Given the description of an element on the screen output the (x, y) to click on. 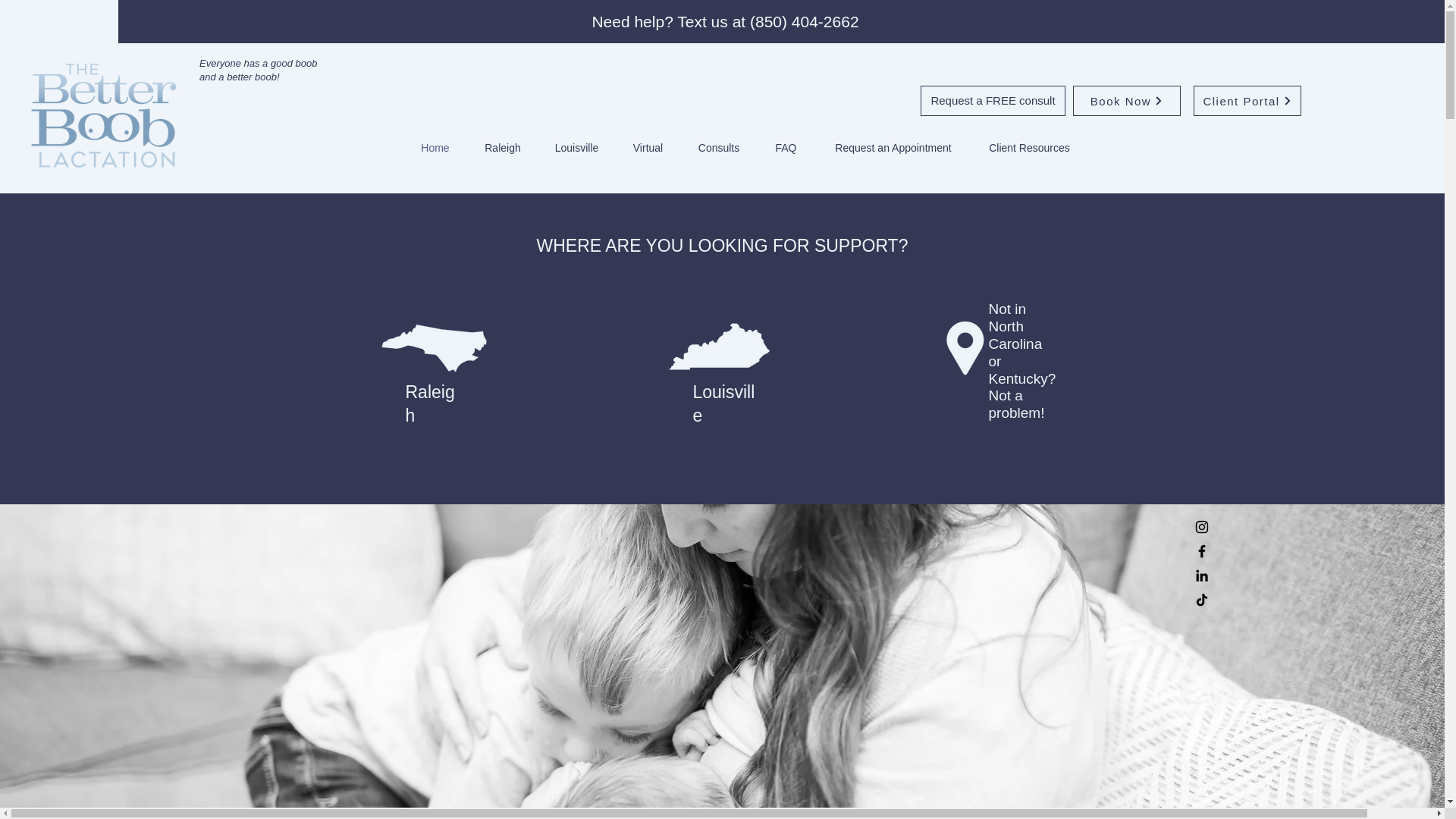
Client Portal (1247, 100)
Request a FREE consult (992, 100)
Consults (719, 147)
Louisville (576, 147)
Book Now (1126, 100)
Request an Appointment (892, 147)
Client Resources (1029, 147)
